Given the description of an element on the screen output the (x, y) to click on. 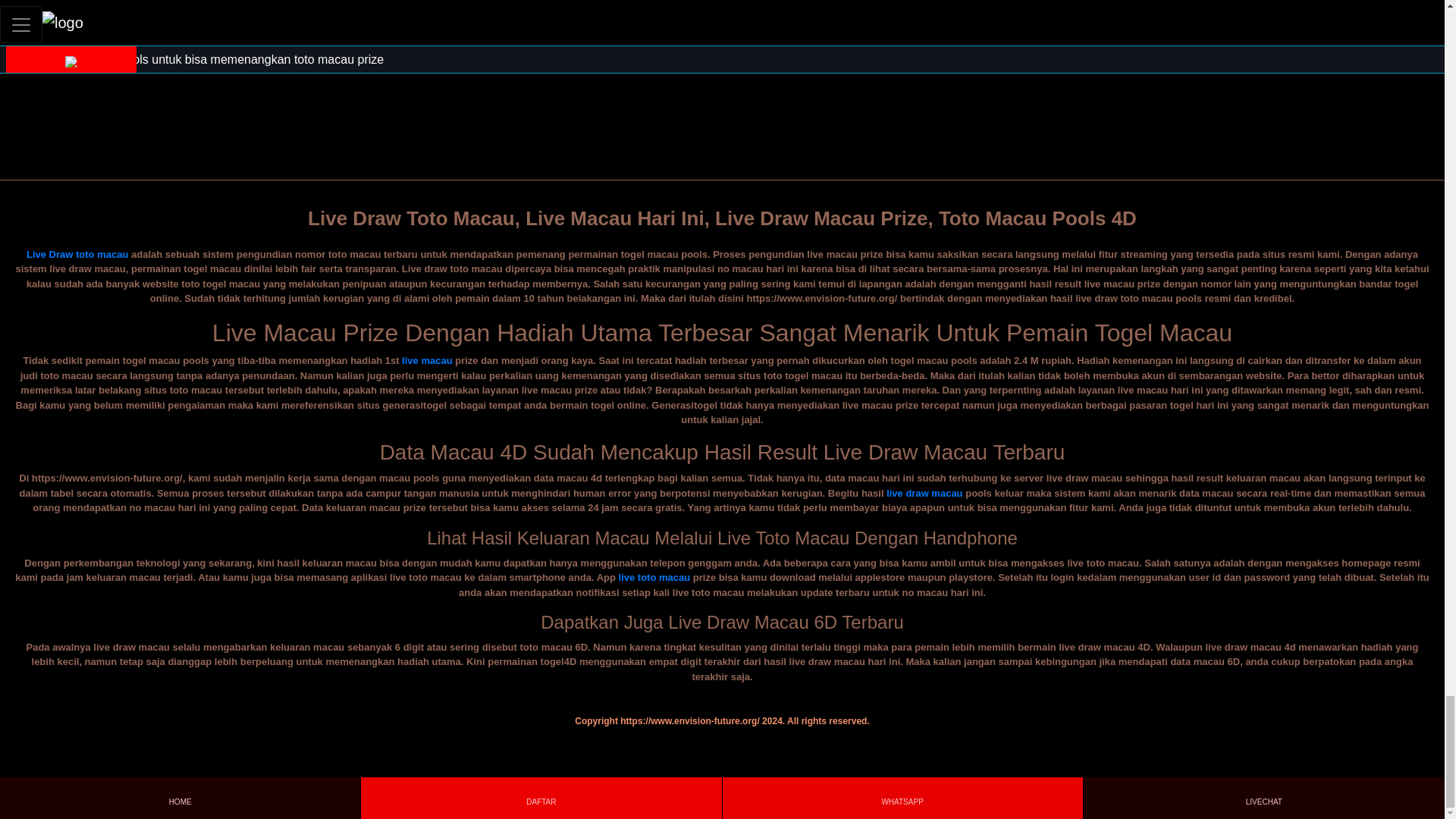
live draw macau (924, 492)
HOME (179, 797)
DAFTAR (540, 797)
Live Draw toto macau (77, 254)
LIVECHAT (1263, 797)
WHATSAPP (901, 797)
live macau (426, 360)
live toto macau (654, 577)
